Given the description of an element on the screen output the (x, y) to click on. 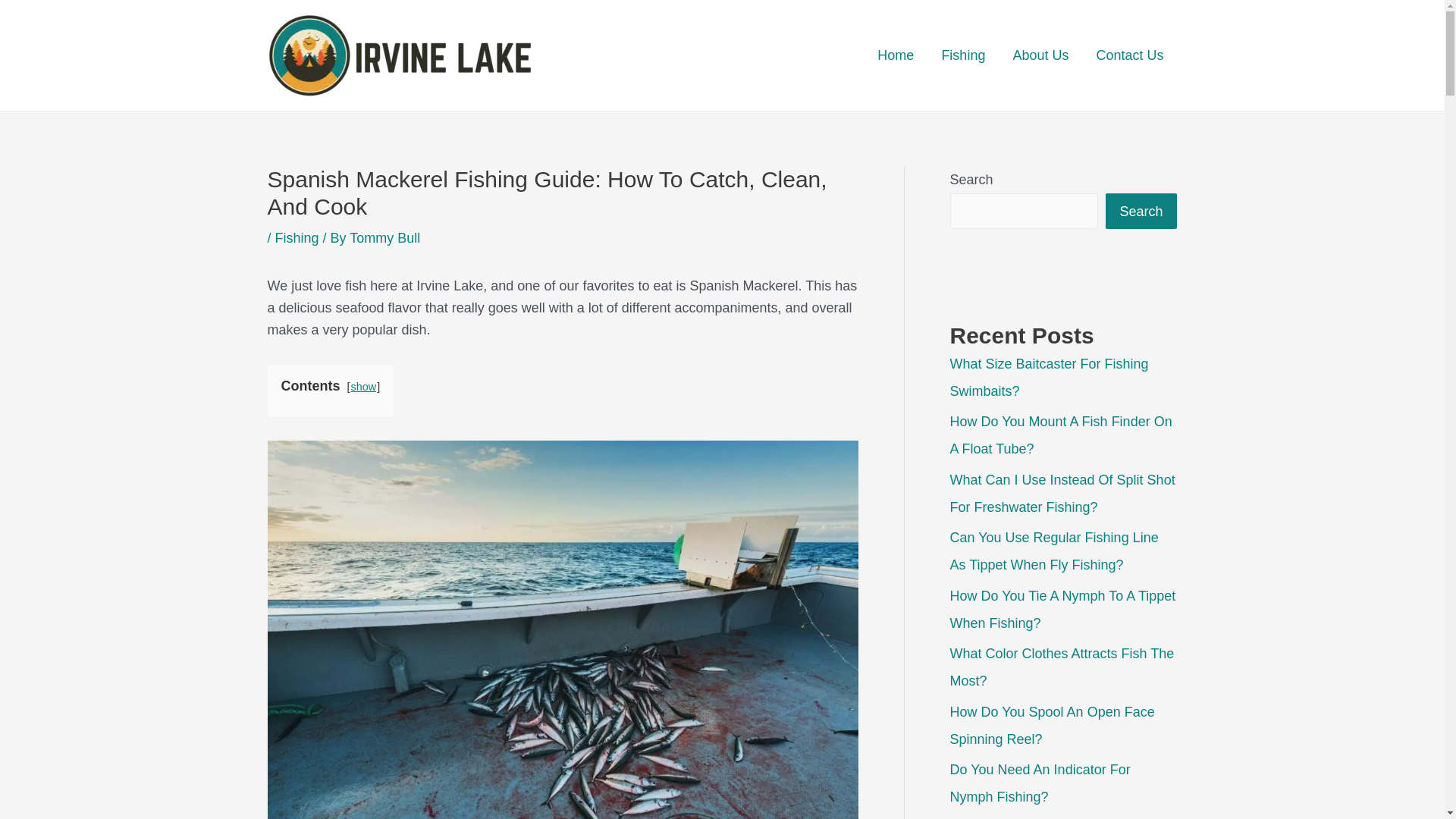
show (363, 386)
Contact Us (1128, 54)
Tommy Bull (384, 237)
Fishing (962, 54)
Home (895, 54)
View all posts by Tommy Bull (384, 237)
About Us (1039, 54)
Fishing (296, 237)
